Given the description of an element on the screen output the (x, y) to click on. 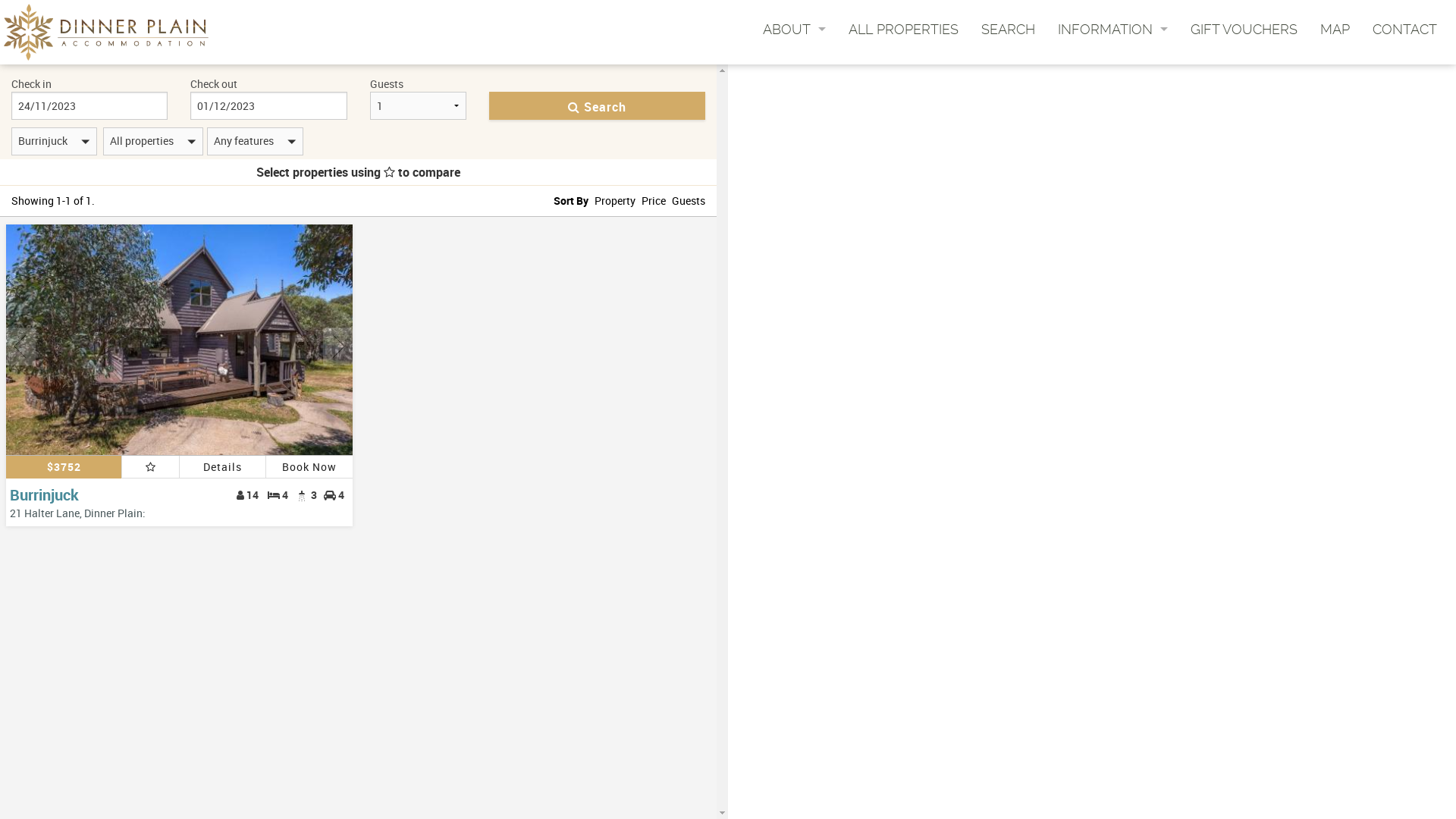
PET FRIENDLY ACCOMMODATION Element type: text (1112, 107)
Details Element type: text (221, 466)
WINTER Element type: text (1112, 72)
Guests Element type: text (688, 200)
CONTACT Element type: text (1404, 29)
WEATHER Element type: text (1112, 143)
Book Now Element type: text (308, 466)
$3752 Element type: text (63, 466)
SEARCH Element type: text (1007, 29)
PROPERTY MANAGEMENT Element type: text (794, 90)
SKI HIRE Element type: text (1112, 90)
INFORMATION Element type: text (1112, 29)
EMPLOYMENT Element type: text (794, 107)
GUEST INFORMATION Element type: text (794, 54)
OWNER PORTAL Element type: text (794, 72)
GIFT VOUCHERS Element type: text (1243, 29)
Property Element type: text (614, 200)
FAQ Element type: text (1112, 125)
ALL PROPERTIES Element type: text (903, 29)
ABOUT Element type: text (794, 29)
SUMMER Element type: text (1112, 54)
Price Element type: text (653, 200)
Search Element type: text (597, 105)
MAP Element type: text (1334, 29)
